Given the description of an element on the screen output the (x, y) to click on. 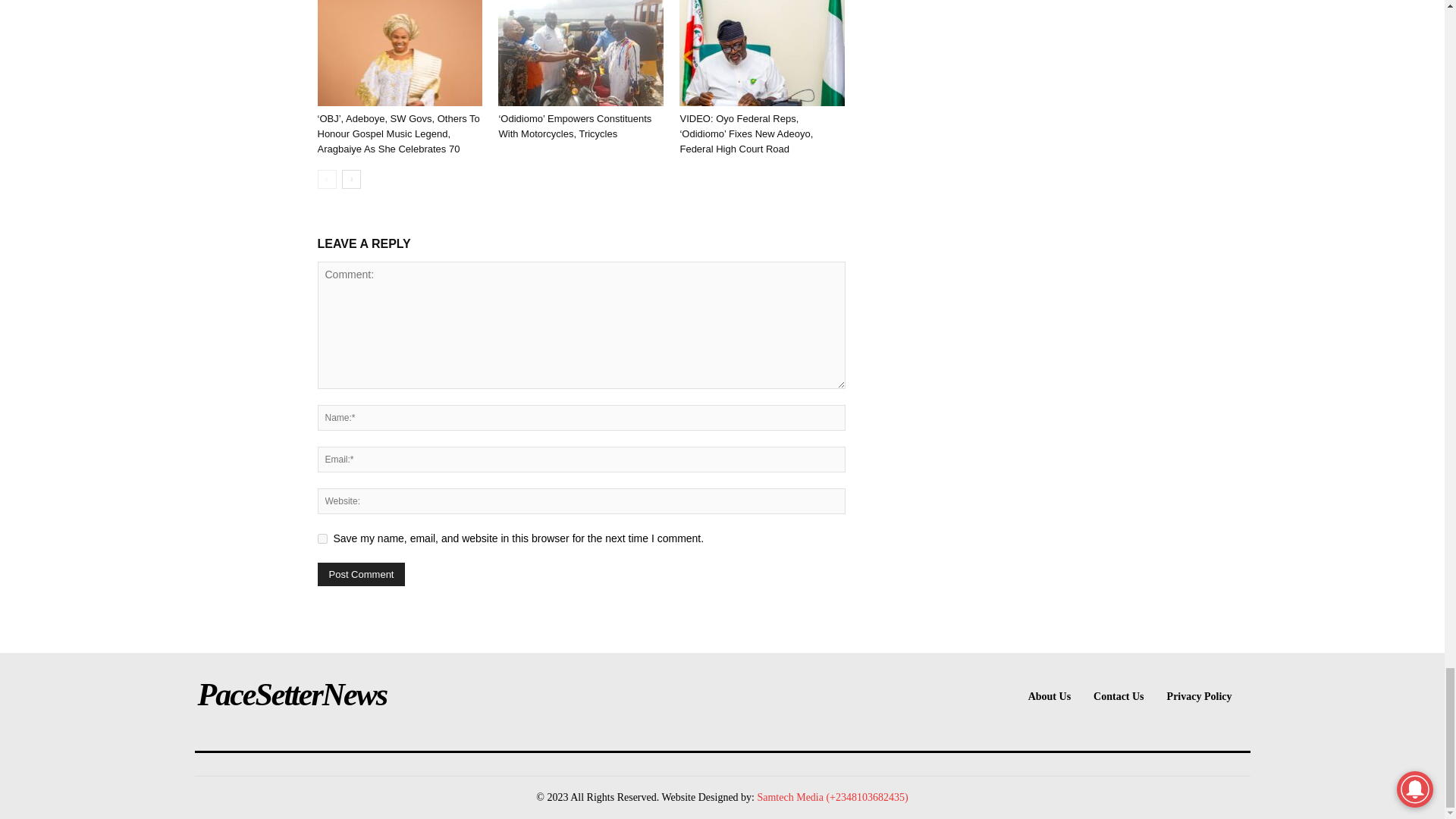
Post Comment (360, 574)
yes (321, 538)
